Given the description of an element on the screen output the (x, y) to click on. 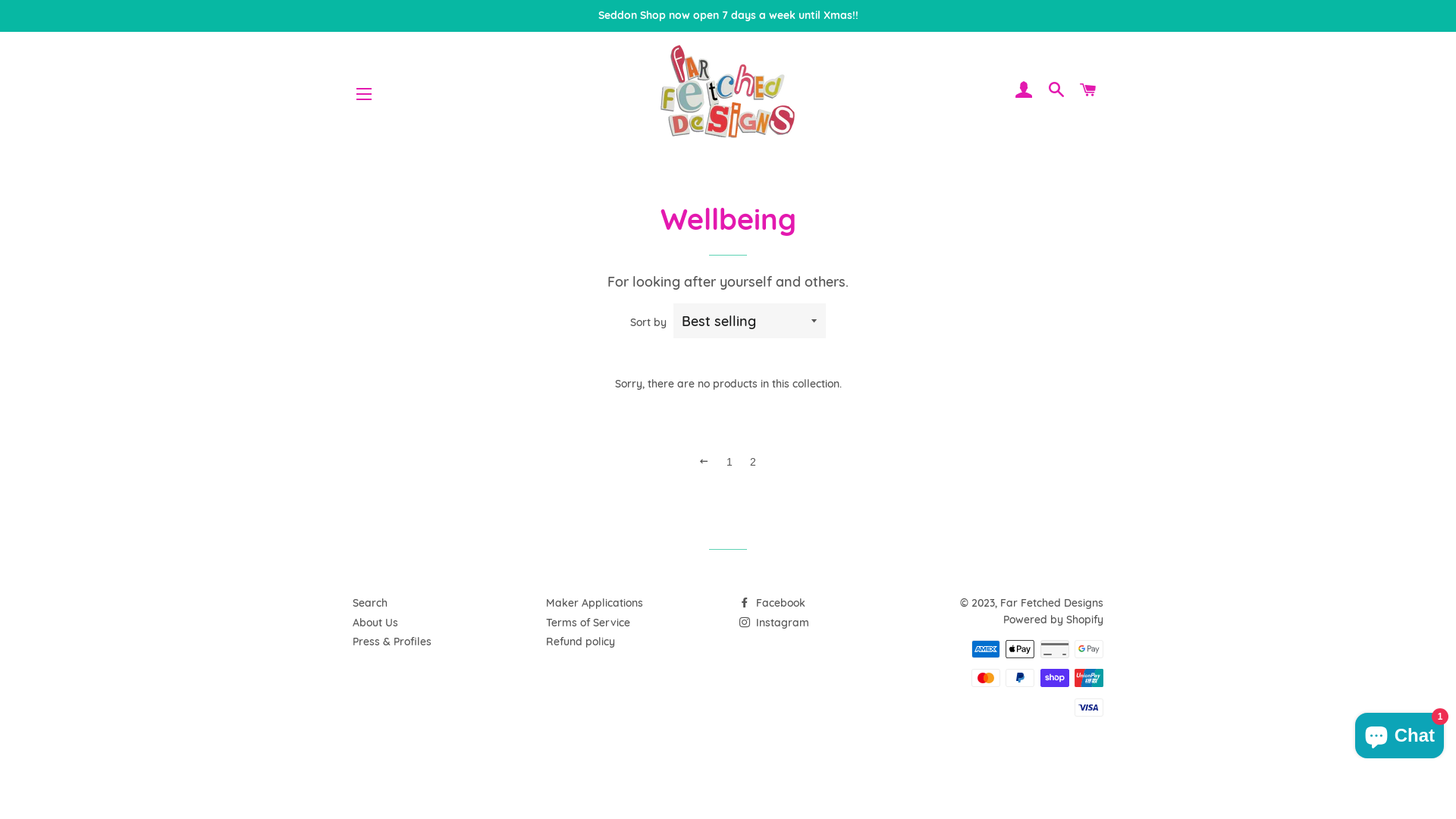
SEARCH Element type: text (1055, 90)
CART Element type: text (1088, 90)
Press & Profiles Element type: text (391, 641)
1 Element type: text (729, 461)
SITE NAVIGATION Element type: text (363, 93)
Refund policy Element type: text (580, 641)
Maker Applications Element type: text (594, 602)
About Us Element type: text (375, 622)
Shopify online store chat Element type: hover (1399, 732)
Search Element type: text (369, 602)
LOG IN Element type: text (1024, 90)
Facebook Element type: text (772, 602)
Instagram Element type: text (774, 622)
Far Fetched Designs Element type: text (1051, 602)
Powered by Shopify Element type: text (1053, 619)
2 Element type: text (752, 461)
PREVIOUS Element type: text (703, 461)
Terms of Service Element type: text (588, 622)
